Given the description of an element on the screen output the (x, y) to click on. 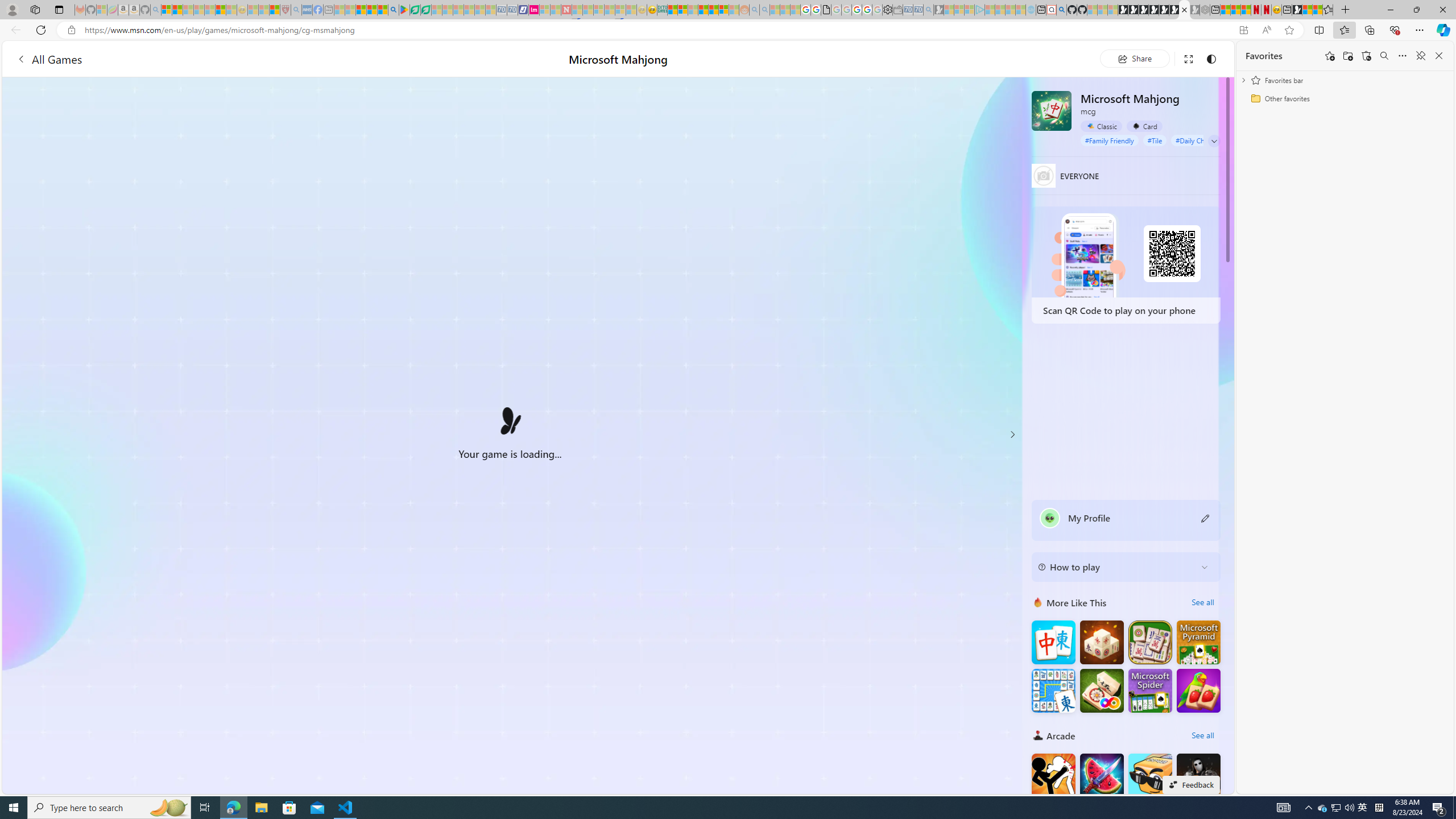
Microsoft Pyramid Solitaire (1198, 642)
Card (1143, 126)
Microsoft Mahjong (1051, 110)
github - Search (1061, 9)
